Given the description of an element on the screen output the (x, y) to click on. 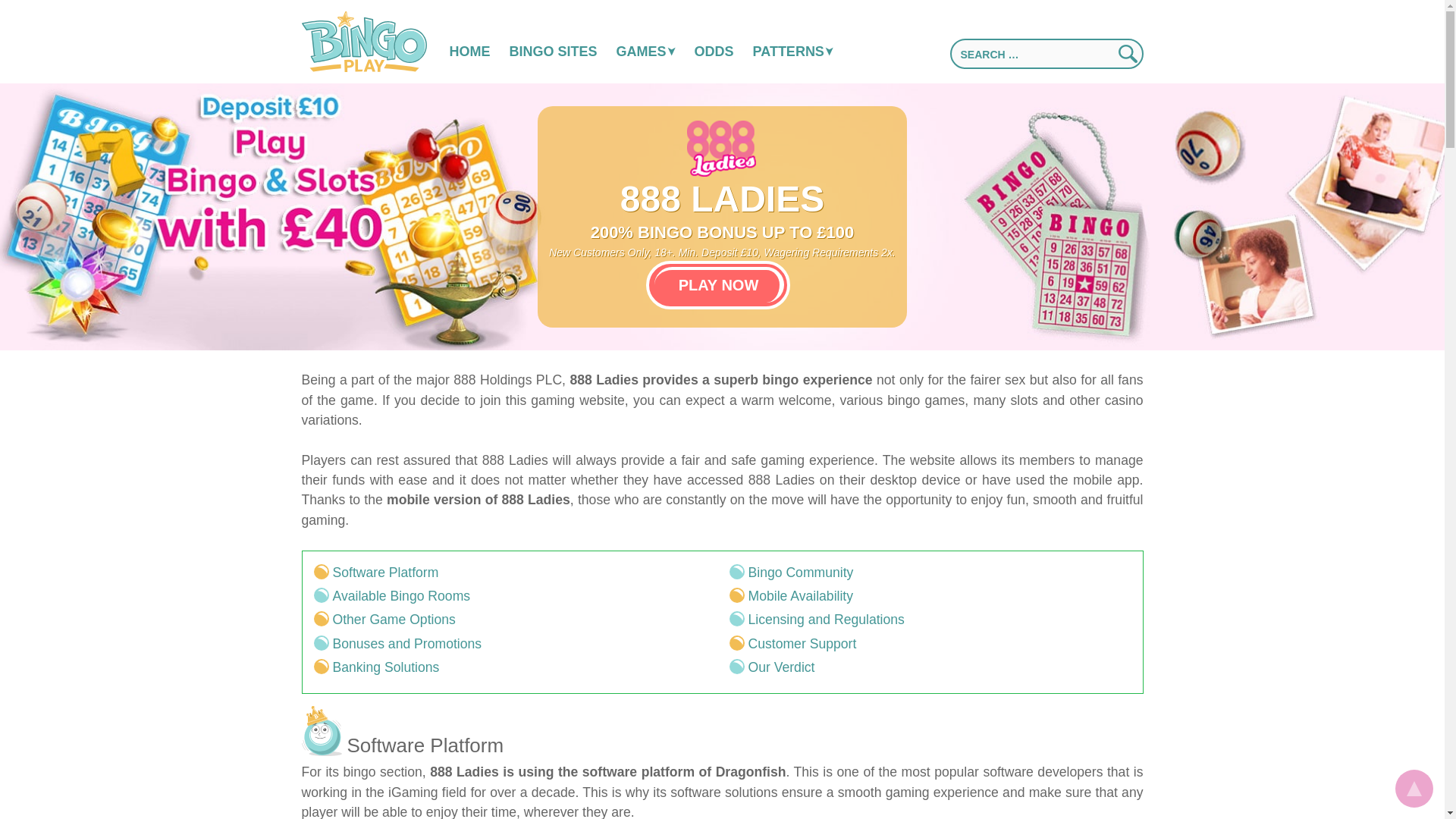
Banking Solutions (385, 667)
Bingo Play (333, 9)
Licensing and Regulations (826, 619)
Mobile Availability (800, 595)
GAMES (645, 39)
Bonuses and Promotions (406, 643)
PATTERNS (792, 39)
Software Platform (384, 572)
Customer Support (802, 643)
BINGO SITES (552, 39)
Bingo Community (800, 572)
Other Game Options (392, 619)
HOME (468, 39)
PLAY NOW (718, 285)
Our Verdict (780, 667)
